Given the description of an element on the screen output the (x, y) to click on. 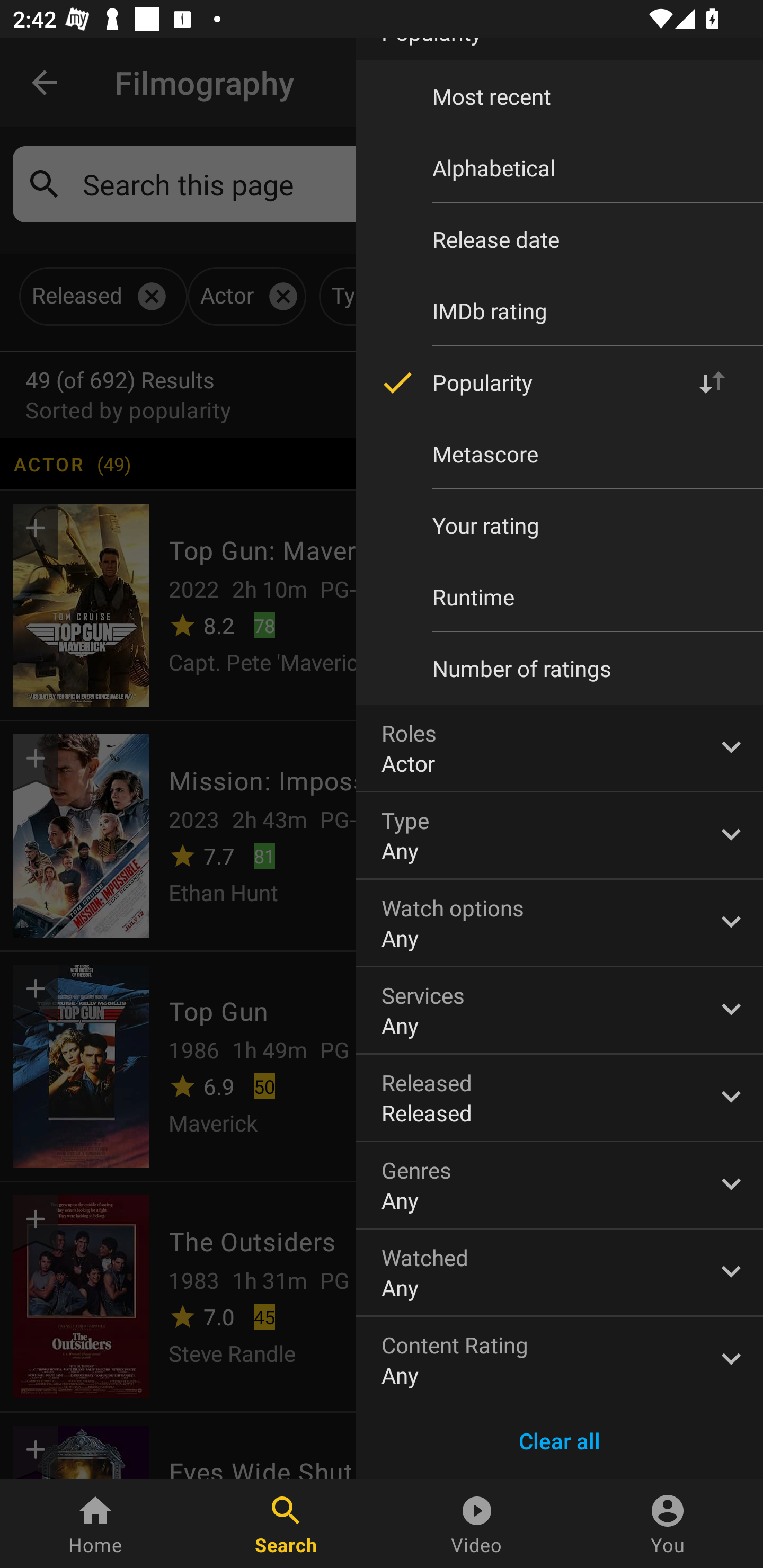
Most recent (559, 96)
Alphabetical (559, 167)
Release date (559, 238)
IMDb rating (559, 310)
Popularity (559, 382)
Metascore (559, 453)
Your rating (559, 524)
Runtime (559, 596)
Number of ratings (559, 668)
Roles Actor (559, 747)
Type Any (559, 834)
Watch options Any (559, 922)
Services Any (559, 1010)
Released (559, 1097)
Genres Any (559, 1184)
Watched Any (559, 1272)
Content Rating Any (559, 1360)
Clear all (559, 1440)
Home (95, 1523)
Video (476, 1523)
You (667, 1523)
